Given the description of an element on the screen output the (x, y) to click on. 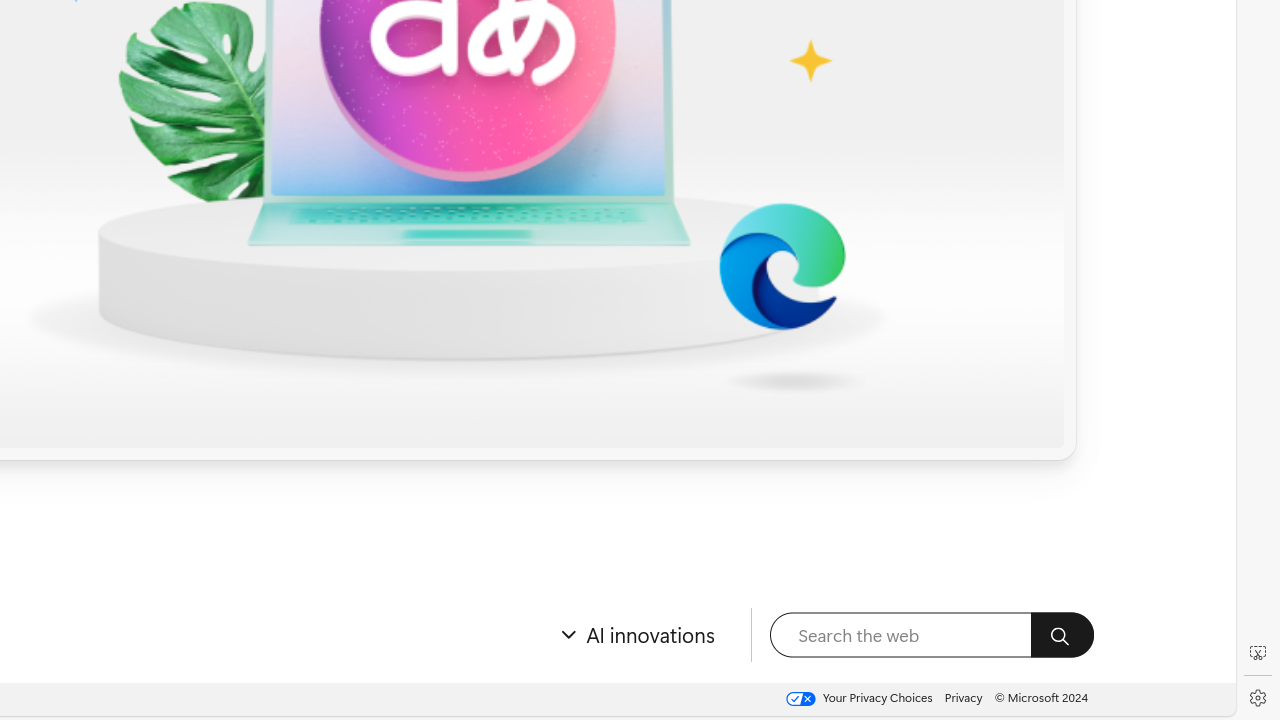
California Consumer Privacy Act (CCPA) Opt-Out Icon Your Privacy Choices Element type: link (857, 699)
Expand Menu Element type: push-button (633, 635)
Settings Element type: push-button (1258, 698)
Search Element type: push-button (1062, 635)
Screenshot Element type: push-button (1258, 653)
